Given the description of an element on the screen output the (x, y) to click on. 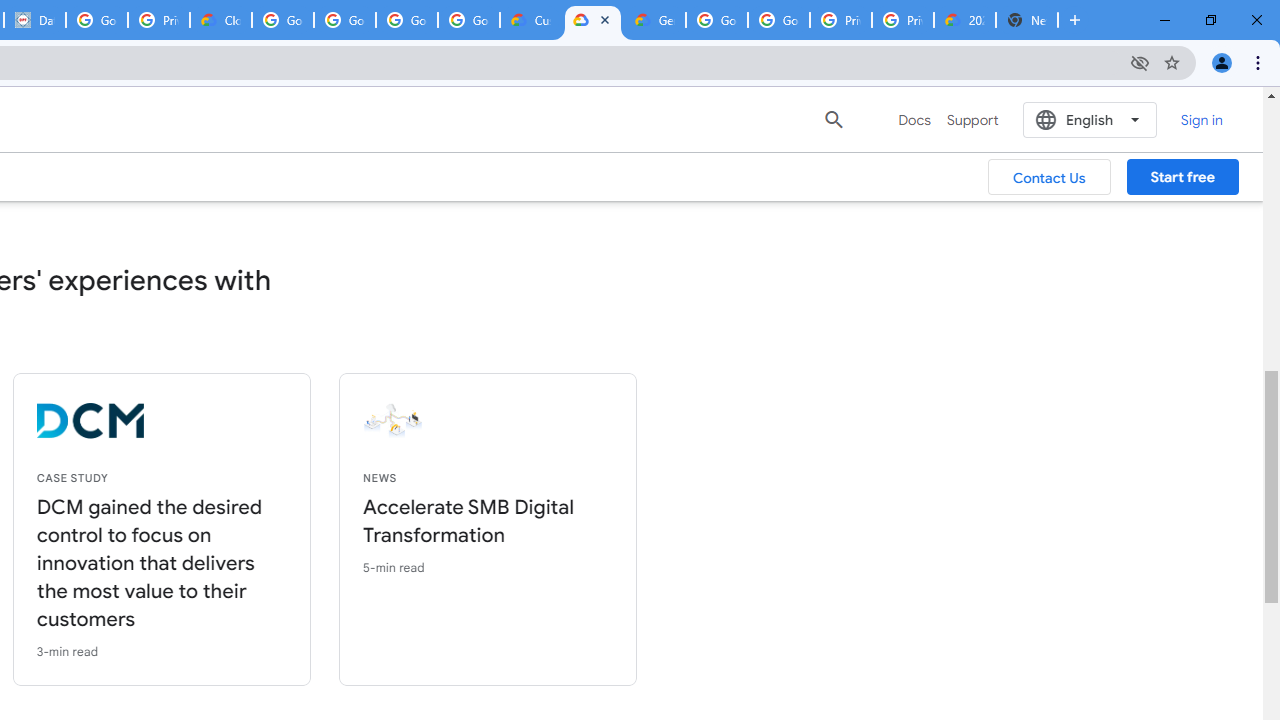
Docs (914, 119)
Start free (1182, 177)
Cloud Data Processing Addendum | Google Cloud (220, 20)
New Tab (1026, 20)
Google Workspace - Specific Terms (406, 20)
